Given the description of an element on the screen output the (x, y) to click on. 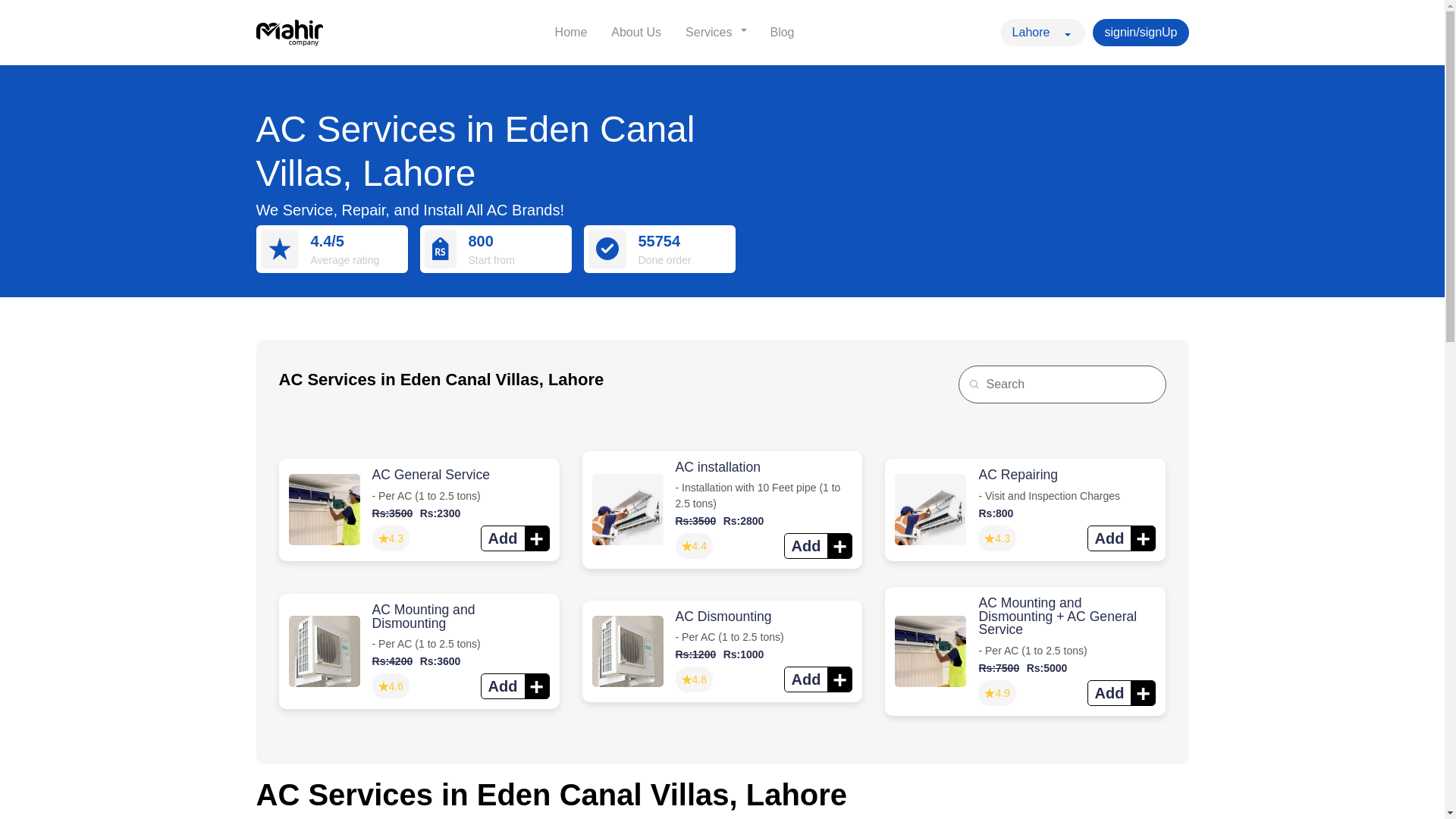
Lahore (1042, 31)
Blog (781, 32)
Home (571, 32)
Services (710, 32)
About Us (635, 32)
